Given the description of an element on the screen output the (x, y) to click on. 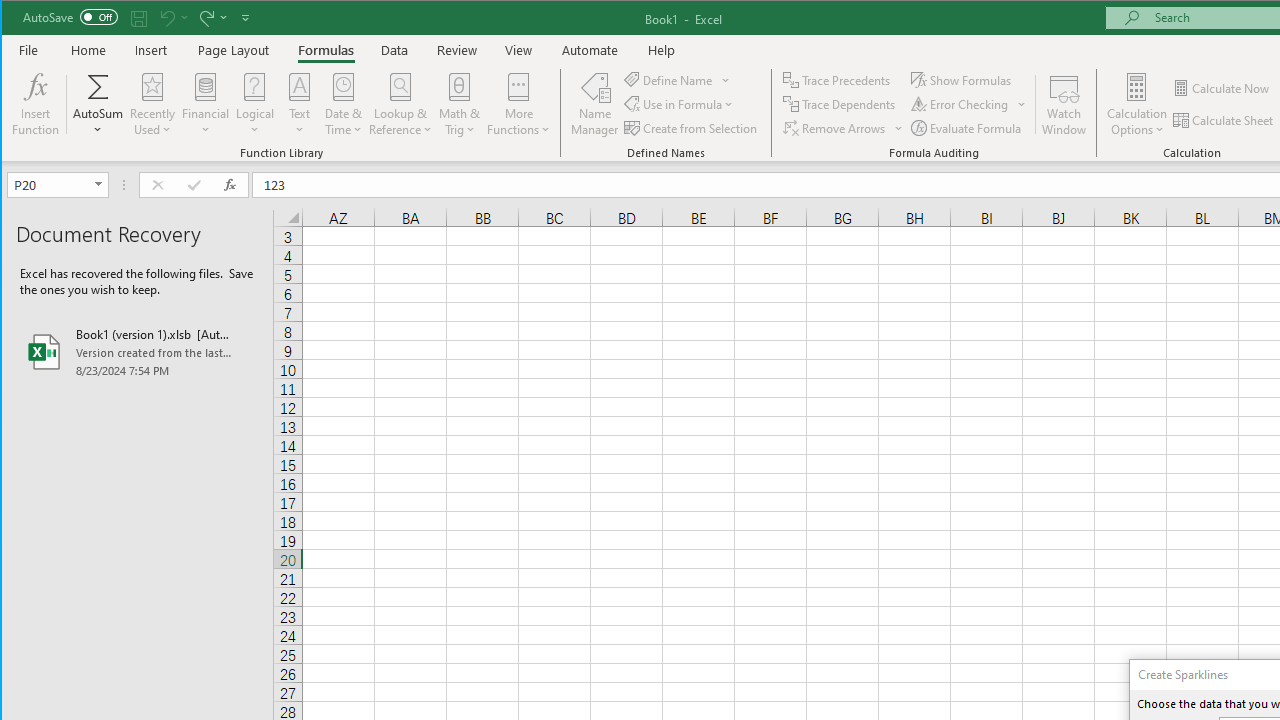
Recently Used (152, 104)
More Functions (518, 104)
Use in Formula (679, 103)
Help (661, 50)
Calculate Now (1222, 88)
Customize Quick Access Toolbar (245, 17)
Calculate Sheet (1224, 119)
Remove Arrows (835, 127)
Text (300, 104)
Sum (97, 86)
Watch Window (1064, 104)
Automate (589, 50)
Data (395, 50)
